Given the description of an element on the screen output the (x, y) to click on. 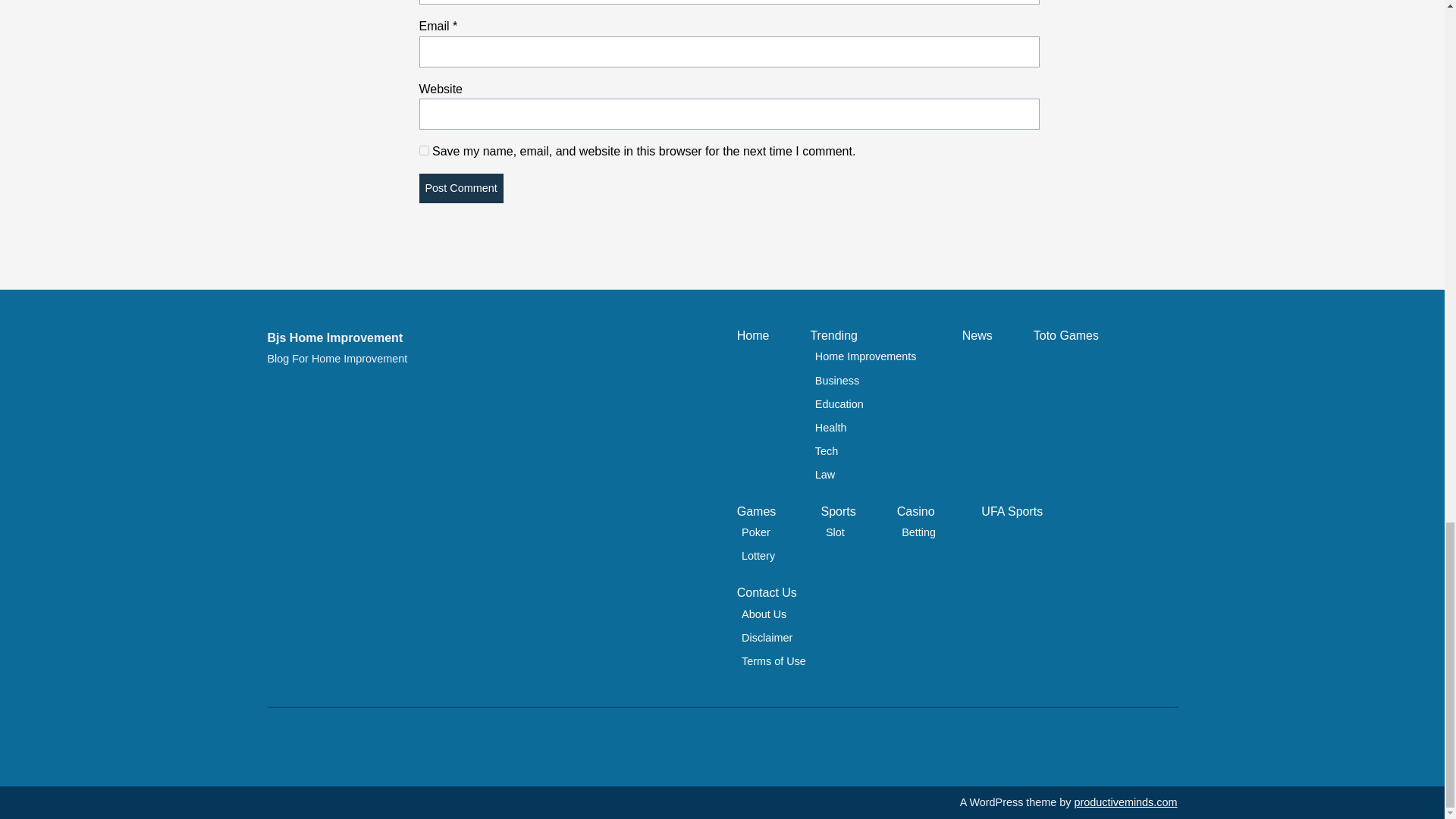
Post Comment (460, 188)
yes (423, 150)
